Given the description of an element on the screen output the (x, y) to click on. 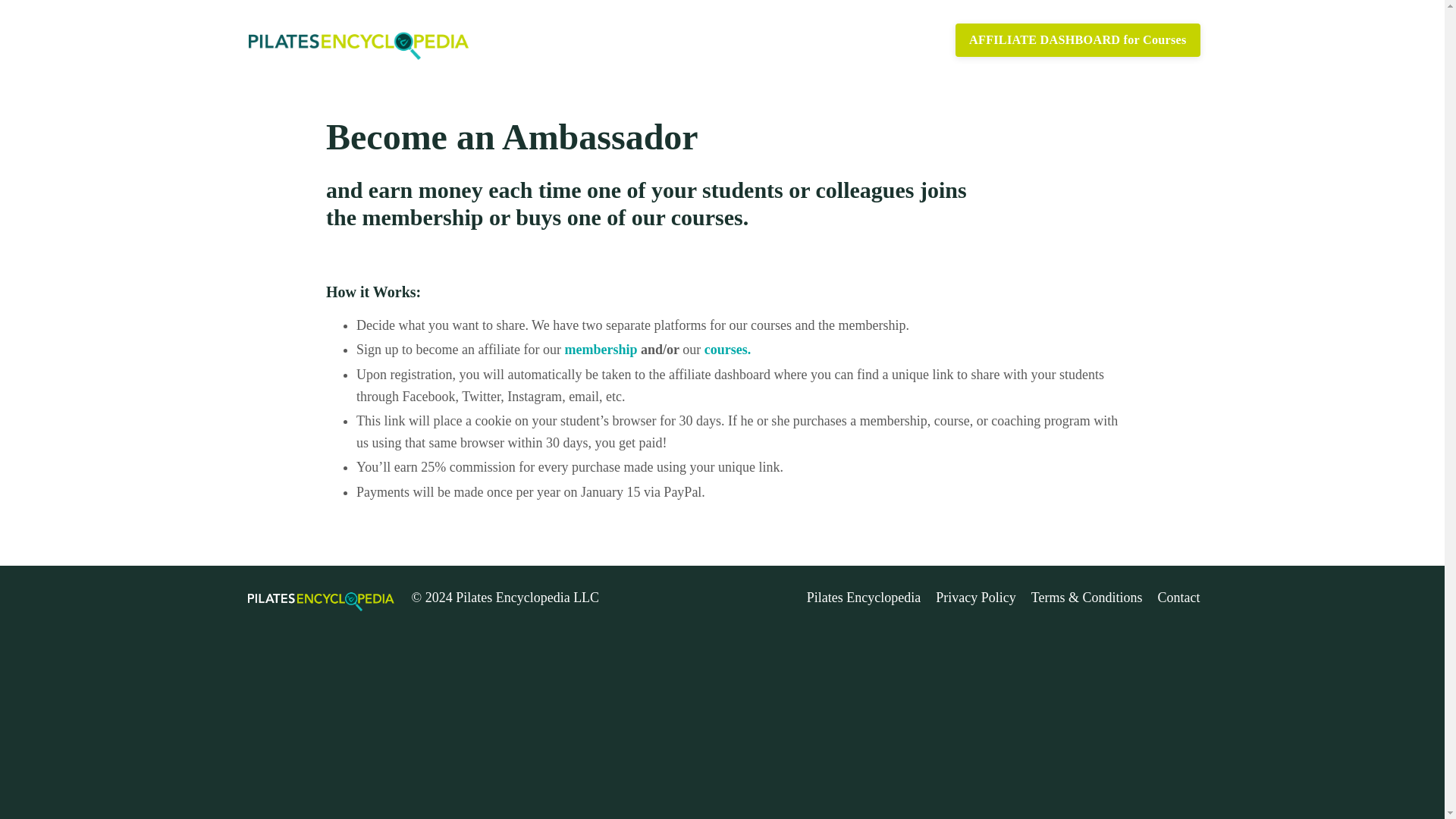
AFFILIATE DASHBOARD for Courses (1077, 39)
membership (600, 349)
courses (726, 349)
Privacy Policy (976, 598)
Contact (1178, 598)
Pilates Encyclopedia (863, 598)
